Given the description of an element on the screen output the (x, y) to click on. 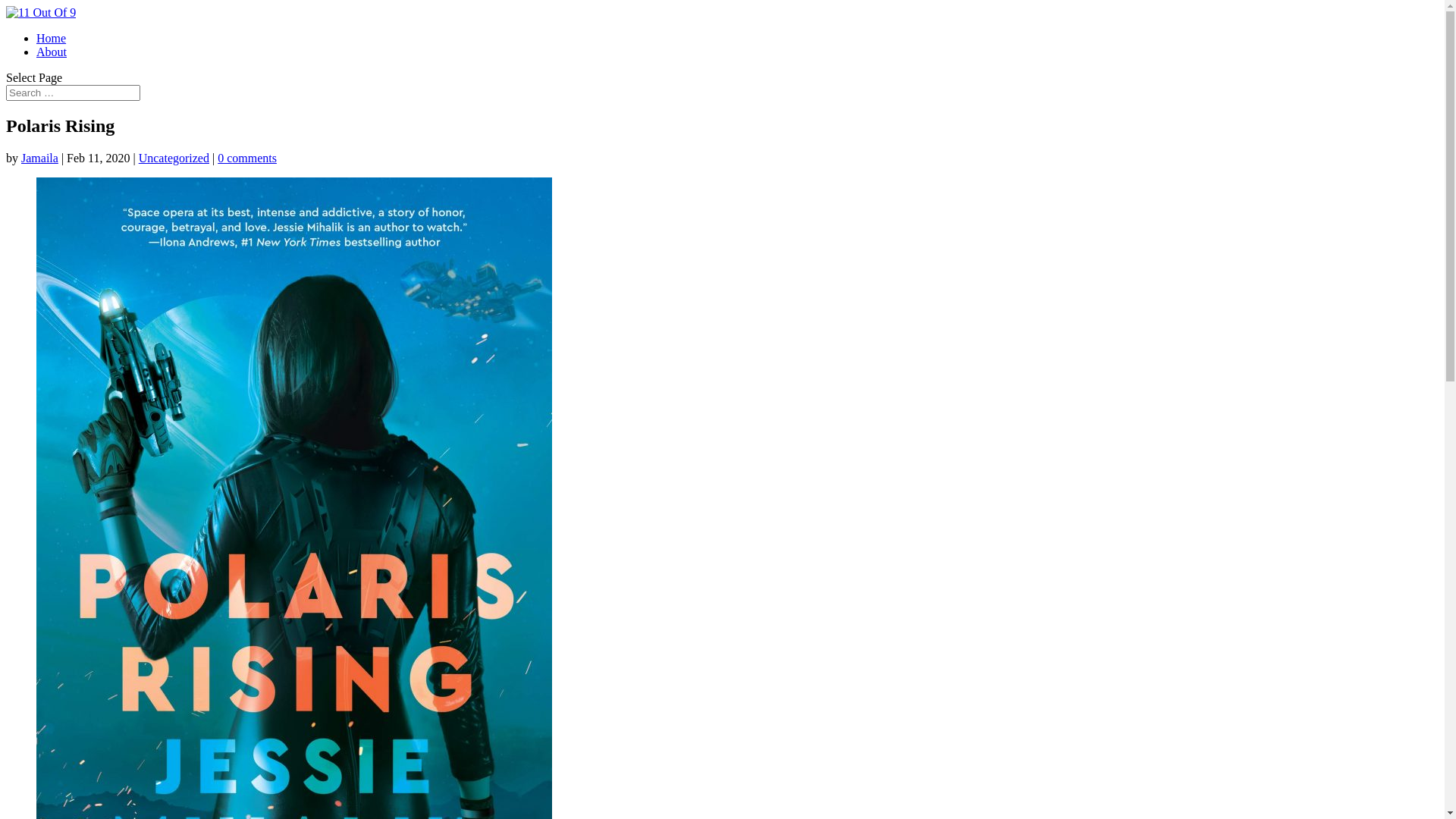
Jamaila Element type: text (39, 157)
Search for: Element type: hover (73, 92)
About Element type: text (51, 51)
Home Element type: text (50, 37)
0 comments Element type: text (246, 157)
Uncategorized Element type: text (173, 157)
